Given the description of an element on the screen output the (x, y) to click on. 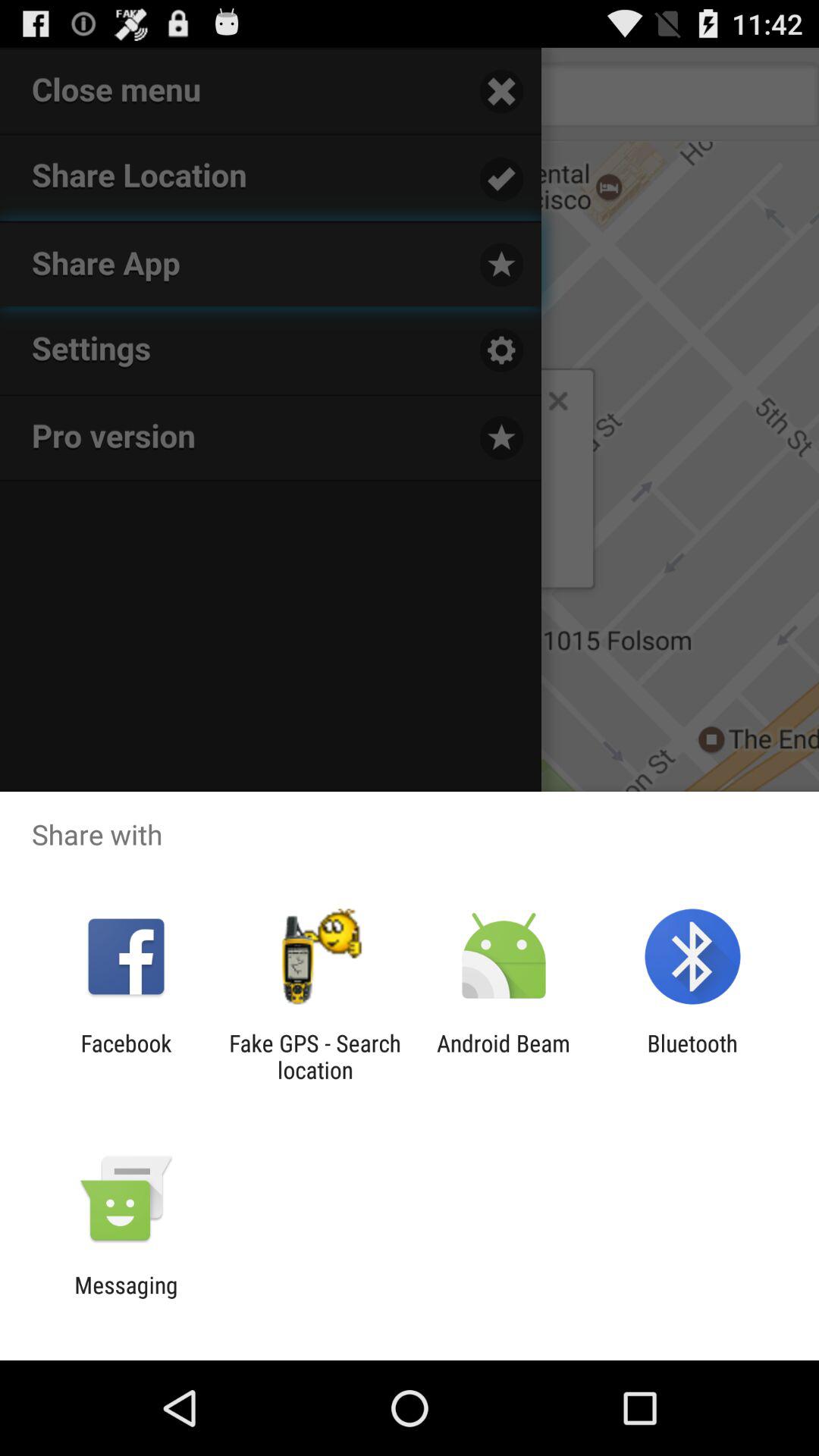
choose the facebook icon (125, 1056)
